Given the description of an element on the screen output the (x, y) to click on. 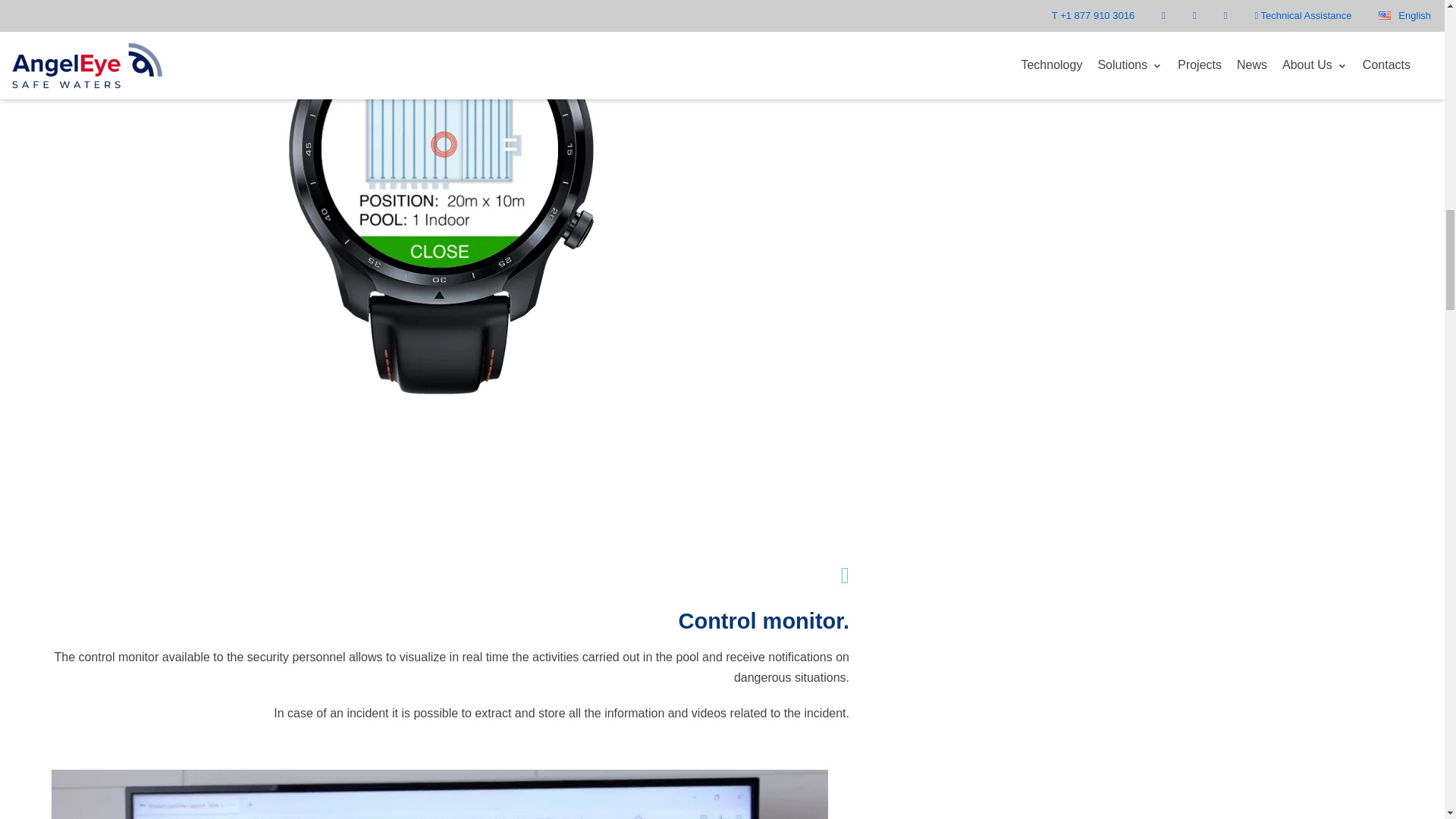
Alarm Devices 5 (439, 794)
